Given the description of an element on the screen output the (x, y) to click on. 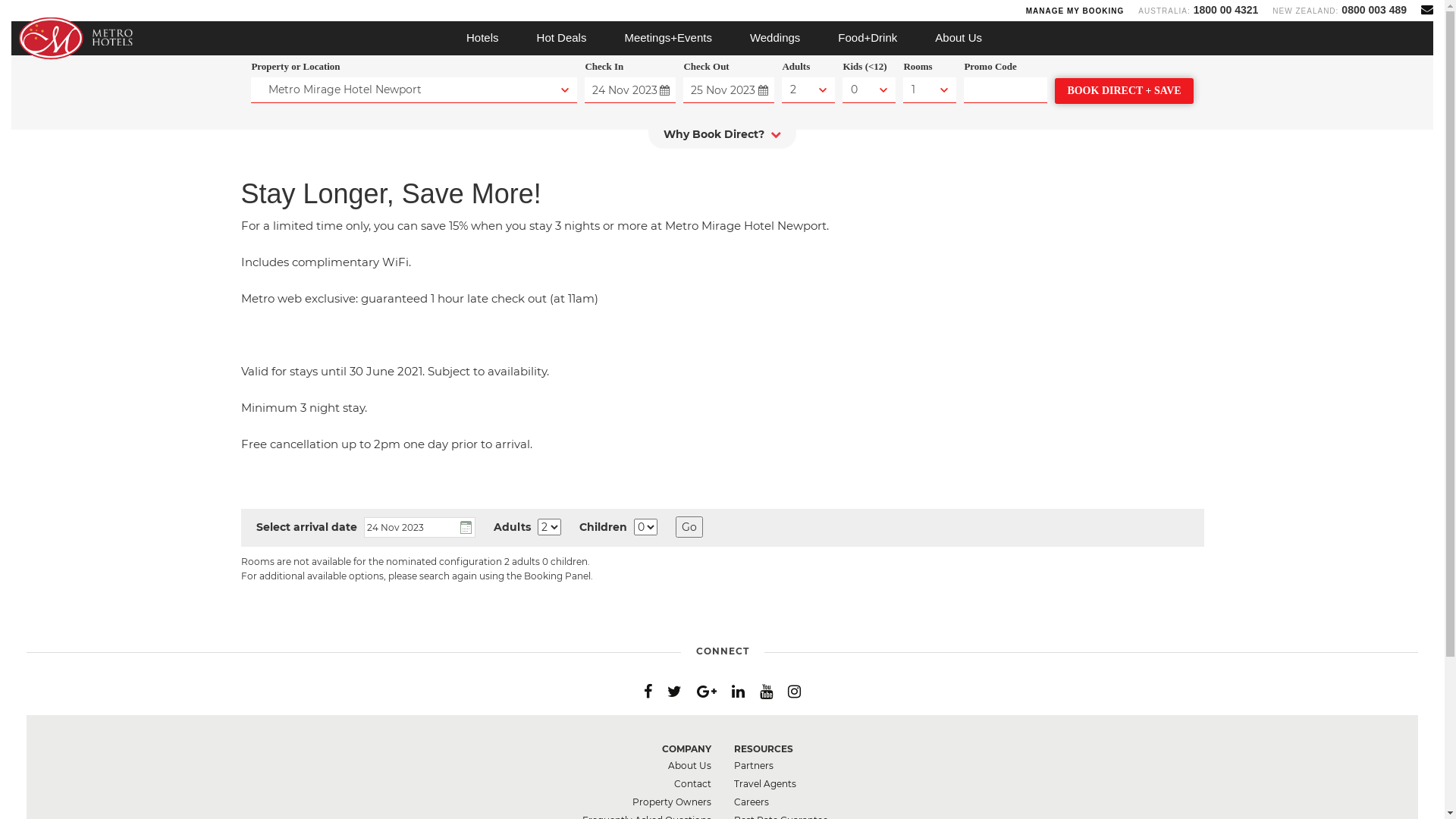
About Us Element type: text (688, 765)
Property Owners Element type: text (671, 801)
BOOK DIRECT + SAVE Element type: text (1123, 90)
Food+Drink Element type: text (867, 38)
About Us Element type: text (958, 38)
Partners Element type: text (753, 765)
Travel Agents Element type: text (765, 783)
Contact Us Element type: hover (1427, 9)
Why Book Direct? Element type: text (722, 137)
Hotels Element type: text (482, 38)
Hot Deals Element type: text (561, 38)
Meetings+Events Element type: text (667, 38)
Weddings Element type: text (775, 38)
Contact Element type: text (691, 783)
Careers Element type: text (751, 801)
MANAGE MY BOOKING Element type: text (1075, 10)
Go Element type: text (688, 526)
